Given the description of an element on the screen output the (x, y) to click on. 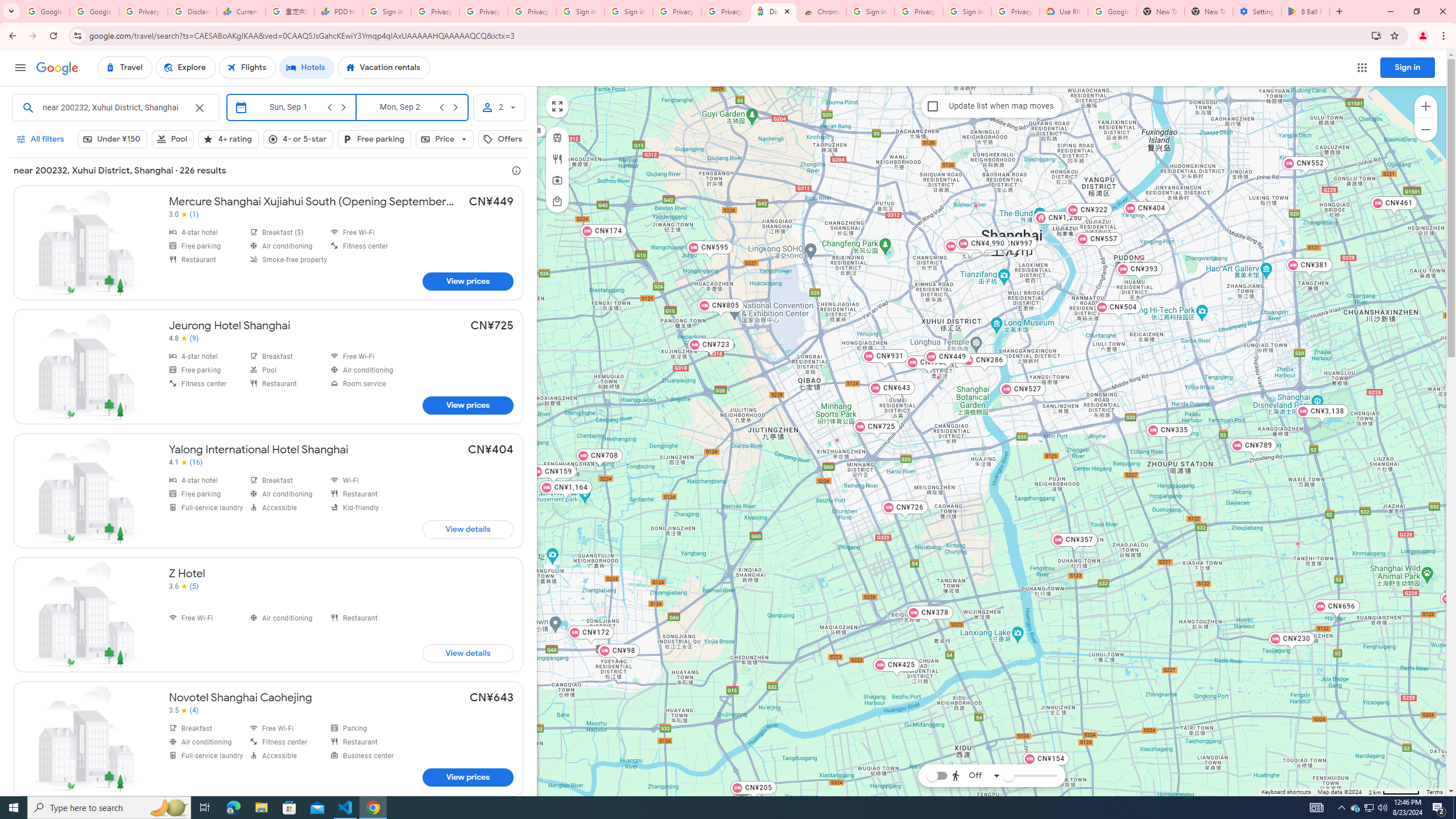
Vacation rentals (383, 67)
Privacy Checkup (532, 11)
4- or 5-star, Hotel class, Not selected (298, 139)
Sign in - Google Accounts (870, 11)
Jeurong Hotel Shanghai (268, 366)
Attractions (556, 180)
